Given the description of an element on the screen output the (x, y) to click on. 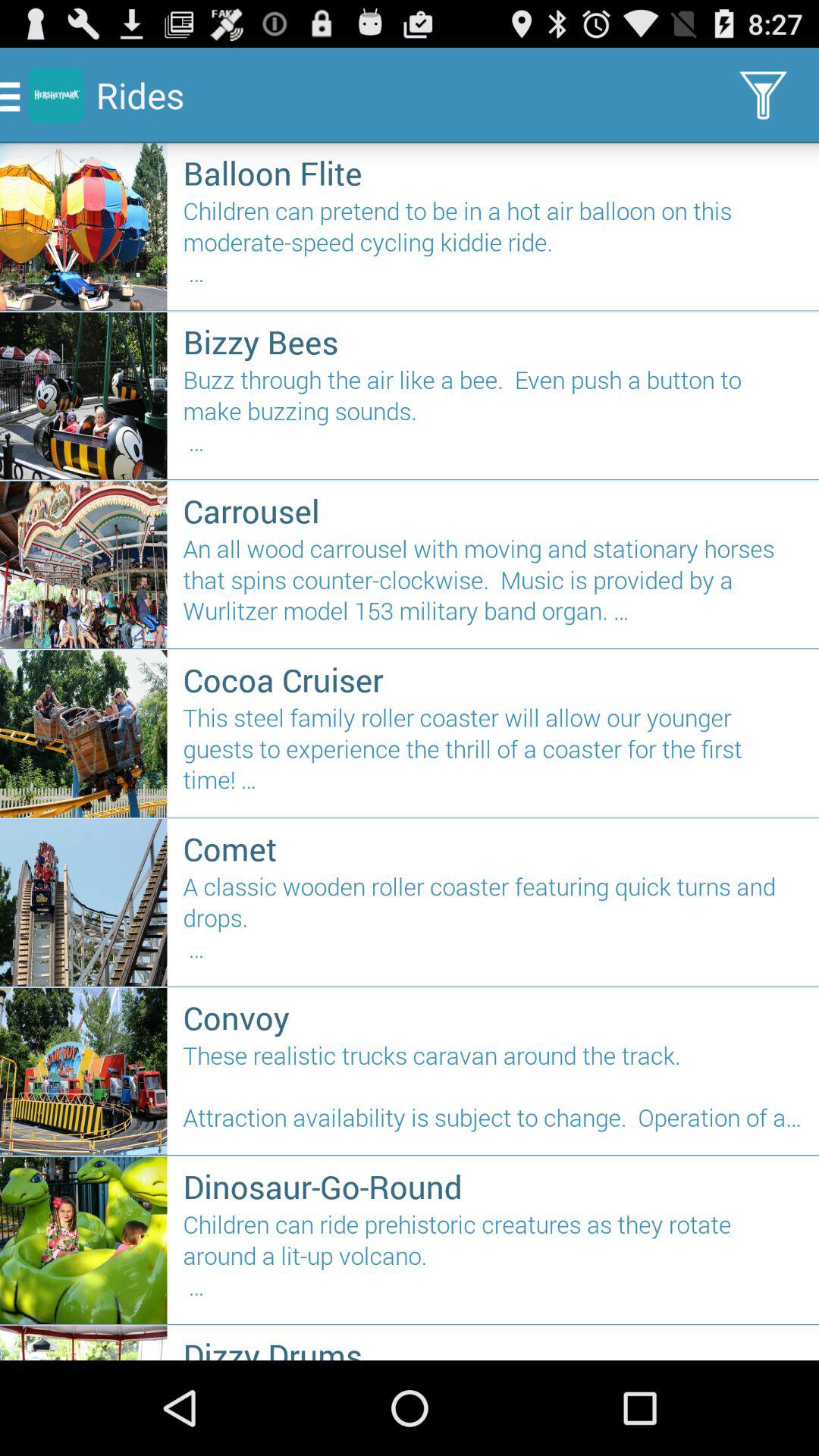
scroll to the a classic wooden (493, 924)
